Given the description of an element on the screen output the (x, y) to click on. 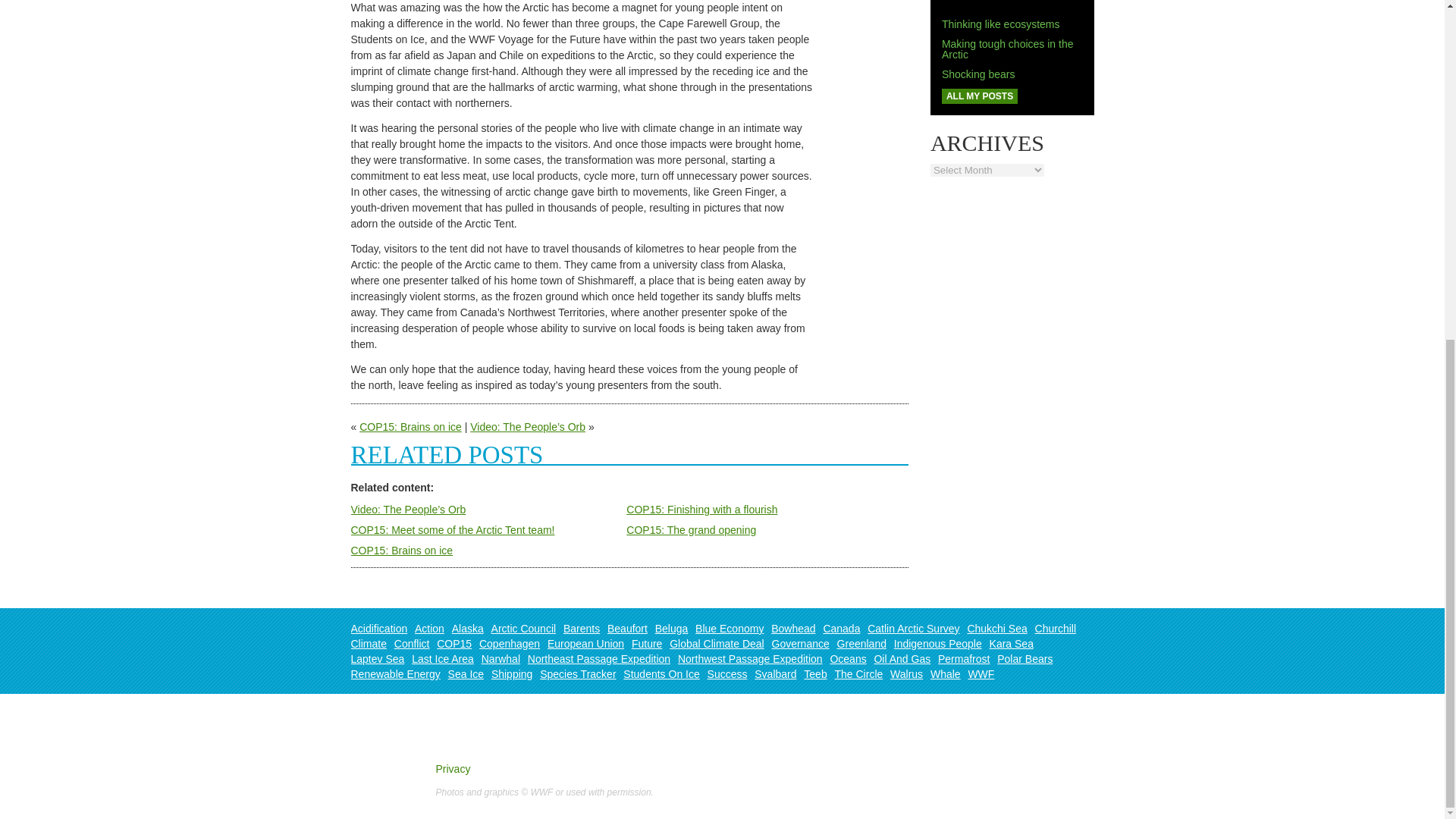
ALL MY POSTS (979, 96)
Action (429, 628)
COP15: Finishing with a flourish (701, 509)
Making tough choices in the Arctic (1008, 48)
Thinking like ecosystems (1000, 24)
COP15: Brains on ice (410, 426)
COP15: Meet some of the Arctic Tent team! (452, 530)
Permanent link to COP15: Meet some of the Arctic Tent team! (452, 530)
Permanent link to COP15: The grand opening (690, 530)
COP15: Brains on ice (401, 550)
Barents (581, 628)
Permanent link to COP15: Brains on ice (401, 550)
Link to Thinking like ecosystems (1000, 24)
Link to Making tough choices in the Arctic (1008, 48)
Arctic Council (524, 628)
